Given the description of an element on the screen output the (x, y) to click on. 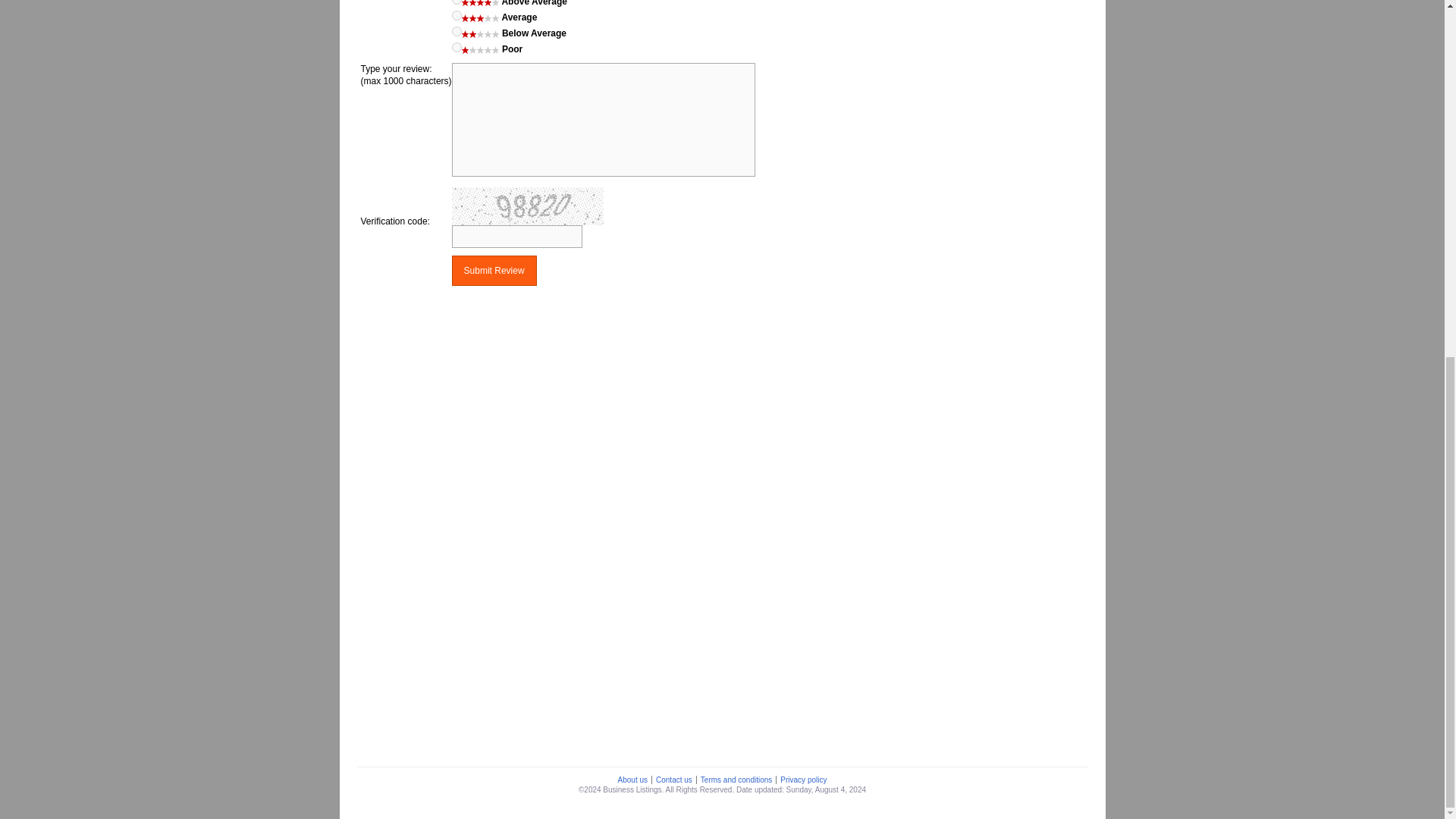
2 (456, 31)
4 (456, 2)
Privacy policy (802, 779)
Terms and conditions (736, 779)
1 (456, 47)
About us (632, 779)
Submit Review (494, 270)
Submit Review (494, 270)
Contact us (673, 779)
3 (456, 15)
